Given the description of an element on the screen output the (x, y) to click on. 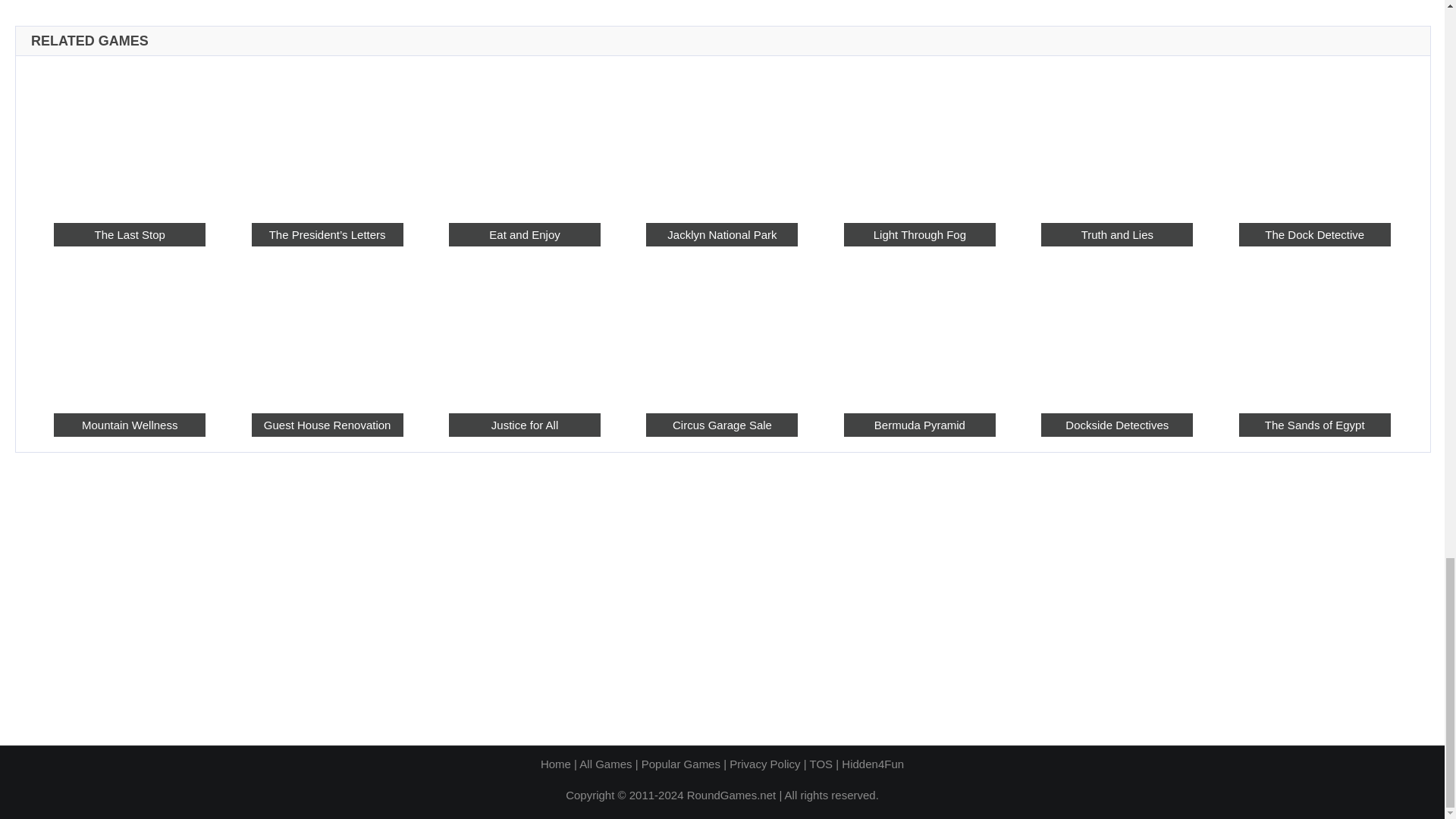
Jacklyn National Park (721, 234)
The Last Stop (129, 234)
Jacklyn National Park (721, 138)
Truth and Lies (1116, 138)
Light Through Fog (919, 138)
Light Through Fog (919, 234)
Eat and Enjoy (523, 234)
Eat and Enjoy (523, 138)
The Last Stop (129, 138)
